Given the description of an element on the screen output the (x, y) to click on. 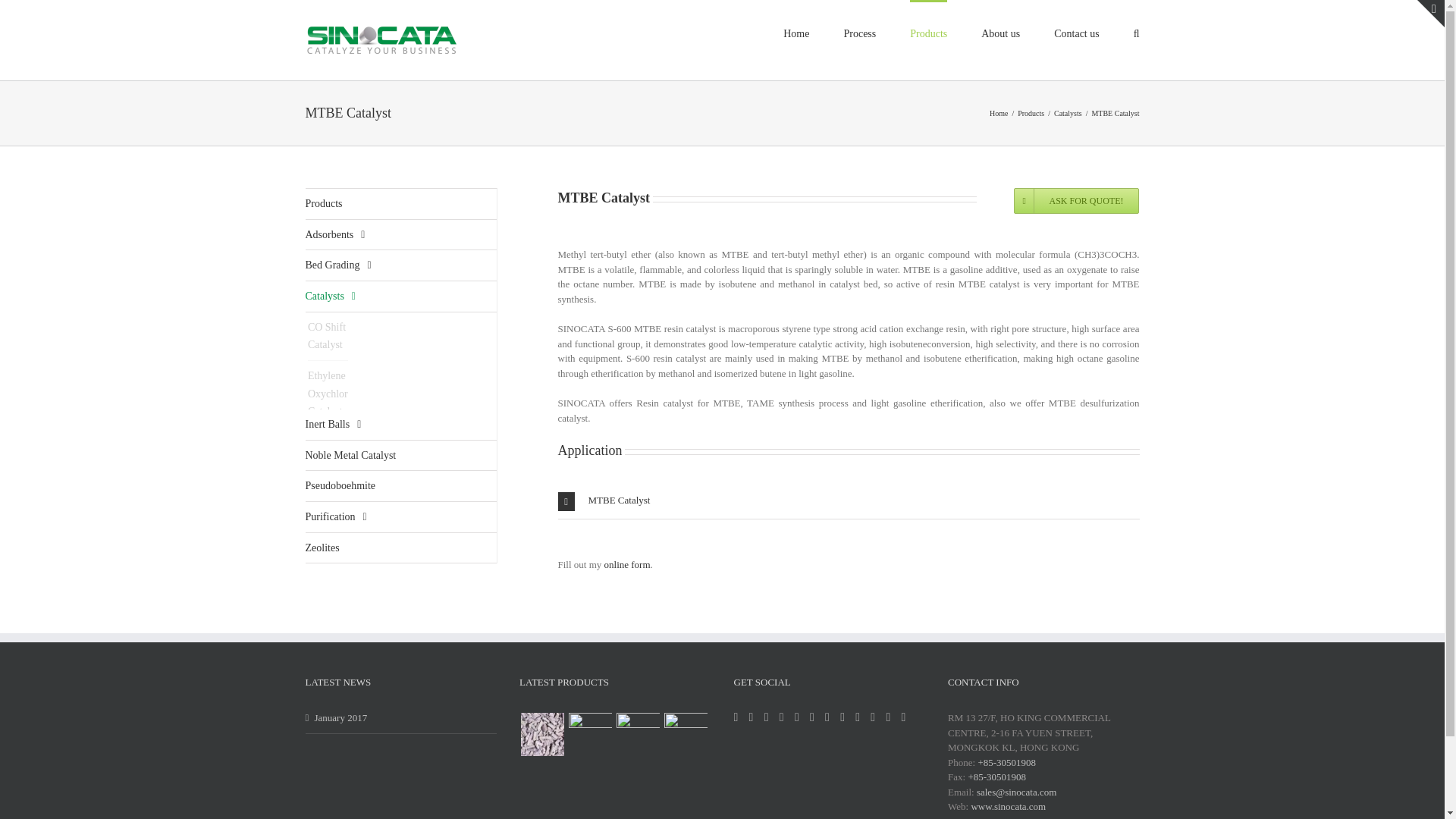
Sulfuric Acid (589, 734)
Back to Parent Page (848, 217)
Hydrotreating (400, 204)
Fill out my online form. (541, 734)
Pressure Drop Control (848, 560)
